Given the description of an element on the screen output the (x, y) to click on. 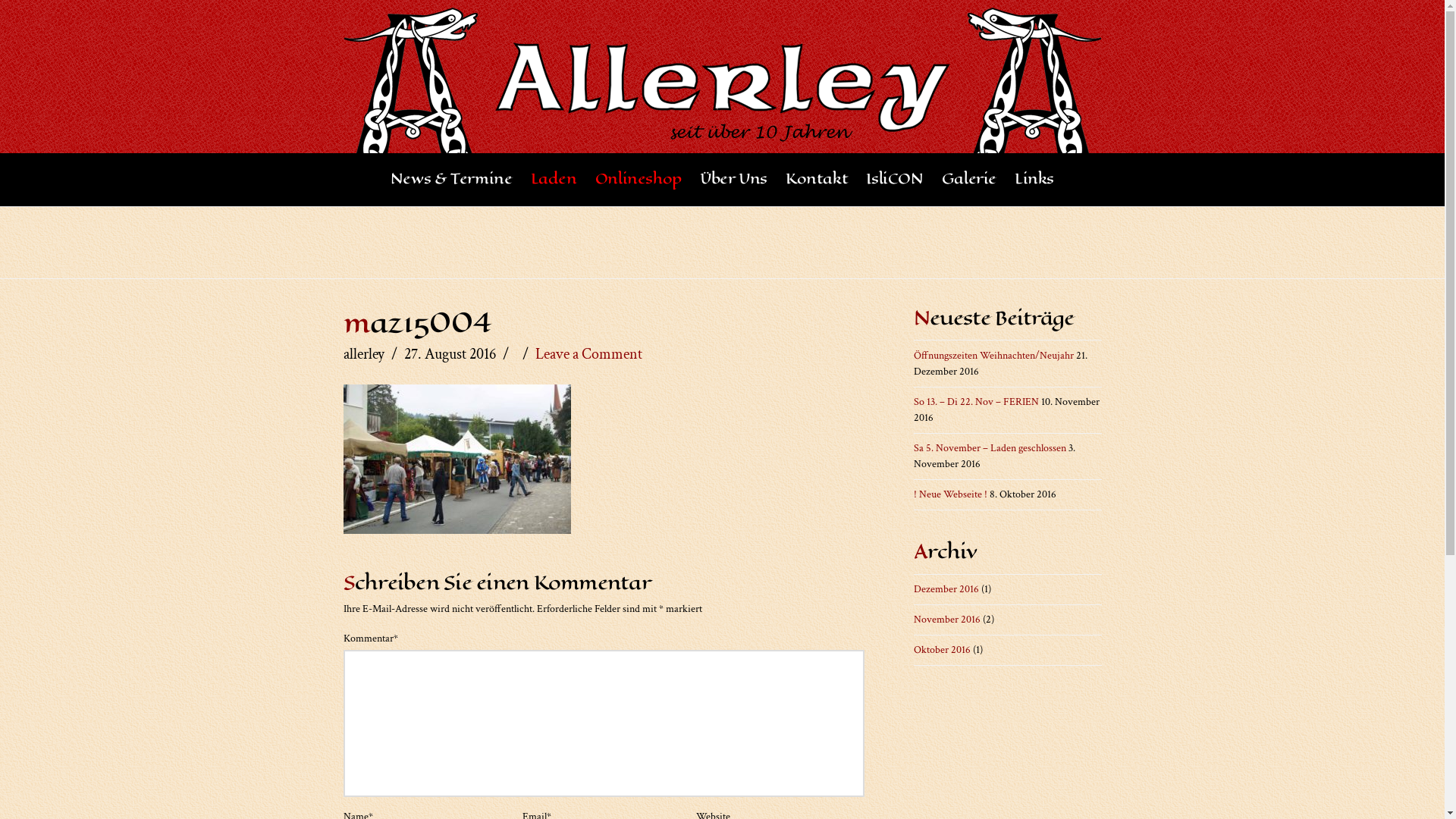
Links Element type: text (1034, 179)
Leave a Comment Element type: text (588, 354)
Kontakt Element type: text (816, 179)
Dezember 2016 Element type: text (946, 589)
News & Termine Element type: text (451, 179)
Galerie Element type: text (968, 179)
IsliCON Element type: text (893, 179)
November 2016 Element type: text (946, 619)
Oktober 2016 Element type: text (941, 649)
Laden Element type: text (553, 179)
! Neue Webseite ! Element type: text (950, 494)
Onlineshop Element type: text (638, 179)
